Given the description of an element on the screen output the (x, y) to click on. 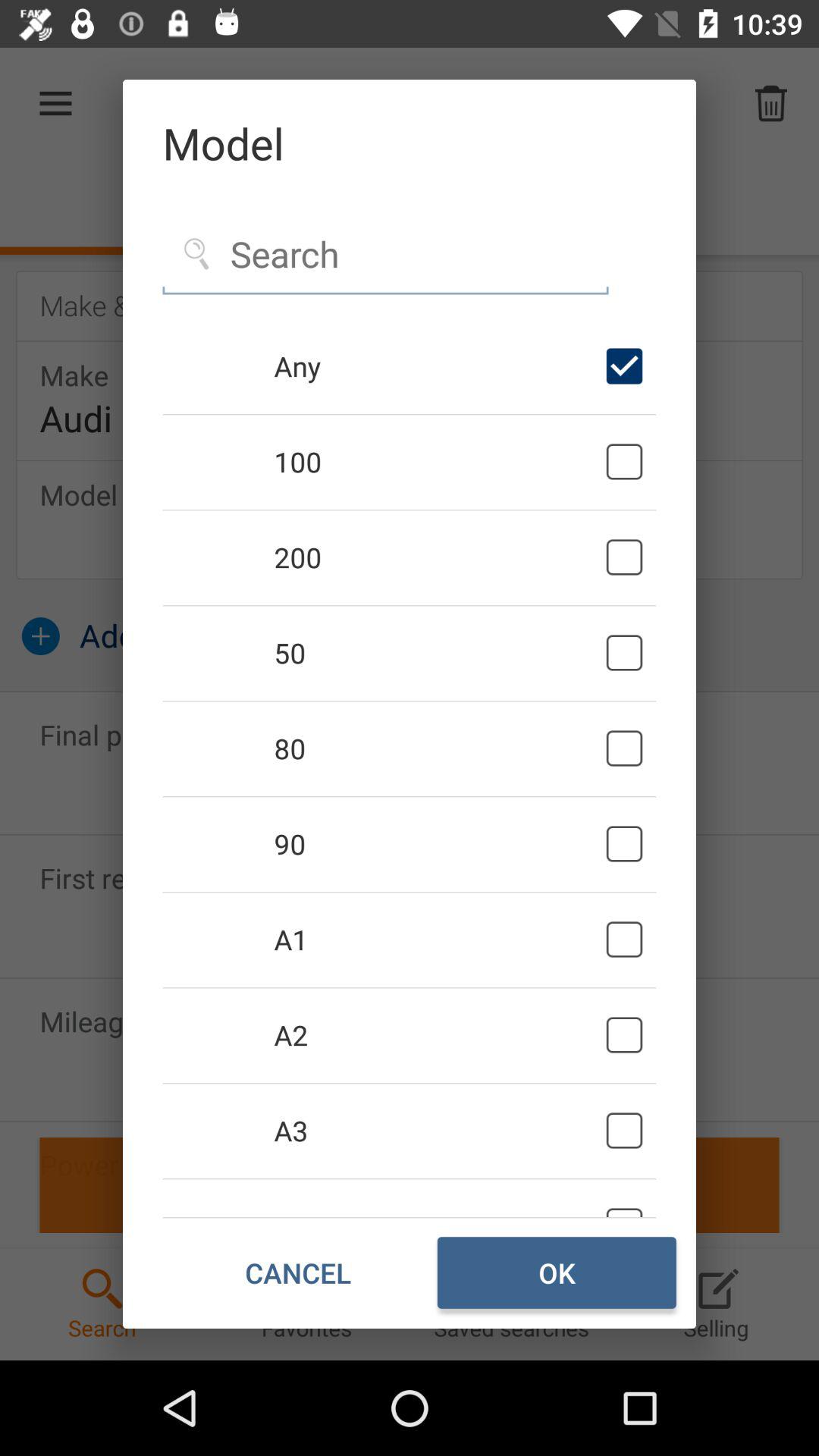
search (385, 254)
